Given the description of an element on the screen output the (x, y) to click on. 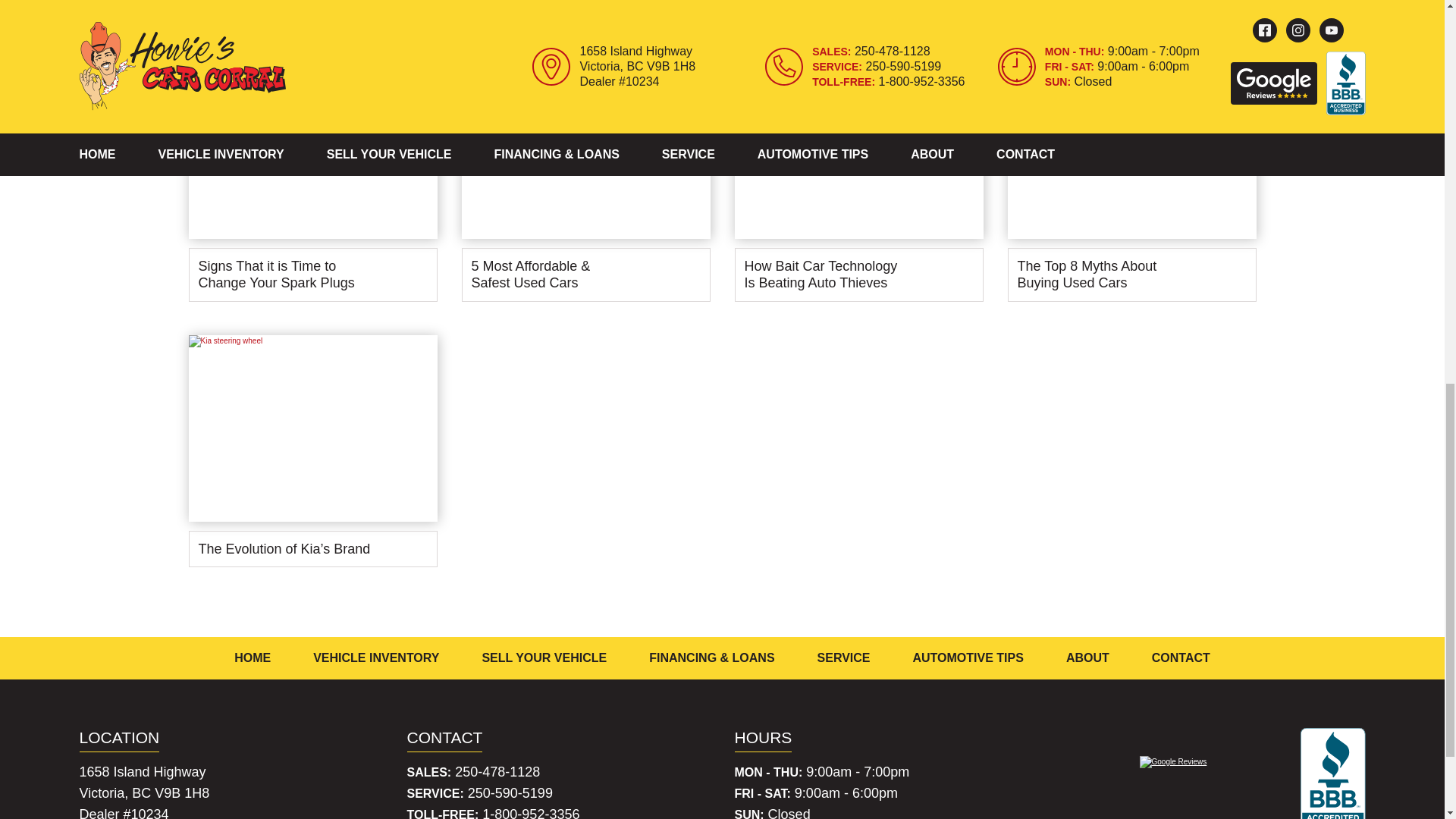
SELL YOUR VEHICLE (544, 658)
VEHICLE INVENTORY (376, 658)
SERVICE (843, 658)
HOME (252, 658)
How Bait Car Technology Is Beating Auto Thieves (857, 181)
The Different Valve Technologies Used In Making Car Engines (857, 13)
Reasons to Own a BMW over Other Car Brands (311, 13)
The Top 8 Myths About Buying Used Cars (1131, 181)
5 Ways to Make Your Transmission Last a Lifetime (585, 13)
Signs That it is Time to Change Your Spark Plugs (311, 181)
